Given the description of an element on the screen output the (x, y) to click on. 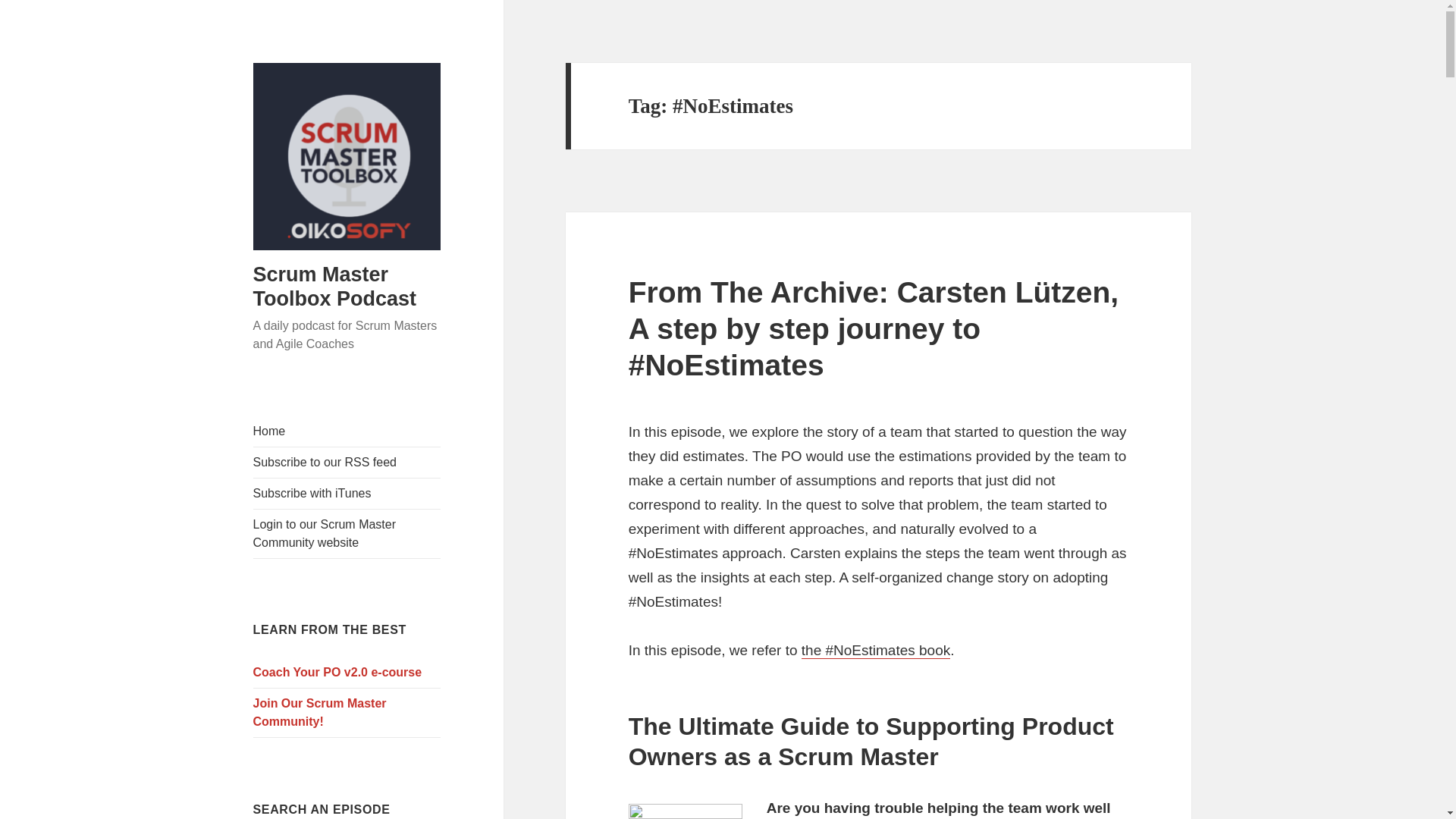
Subscribe with iTunes (347, 493)
Login to our Scrum Master Community website (347, 533)
Scrum Master Toolbox Podcast (334, 286)
Join Our Scrum Master Community! (347, 712)
Subscribe to our RSS feed (347, 462)
Coach Your PO v2.0 e-course (347, 672)
Home (347, 431)
